Given the description of an element on the screen output the (x, y) to click on. 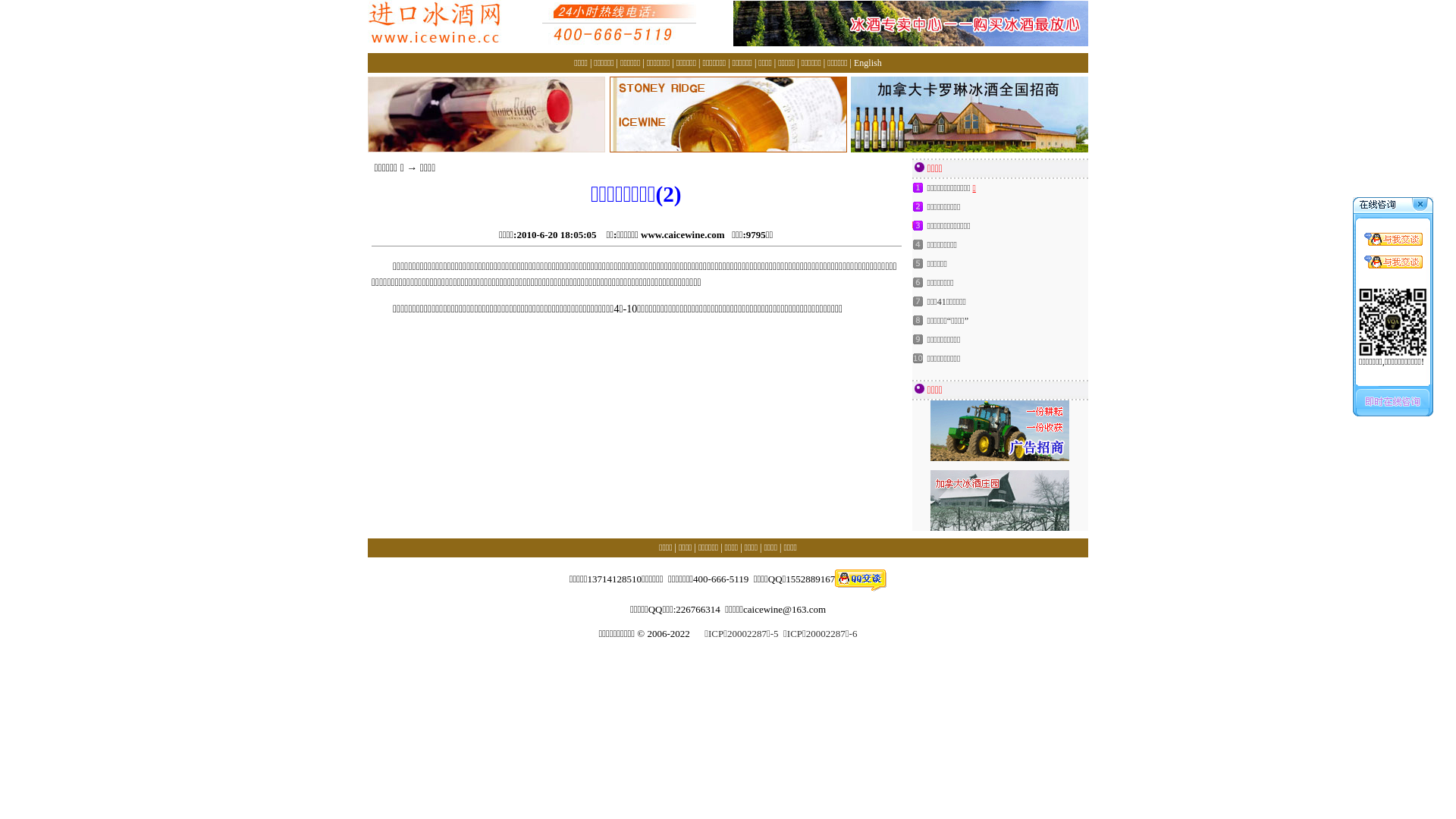
English Element type: text (867, 62)
